Given the description of an element on the screen output the (x, y) to click on. 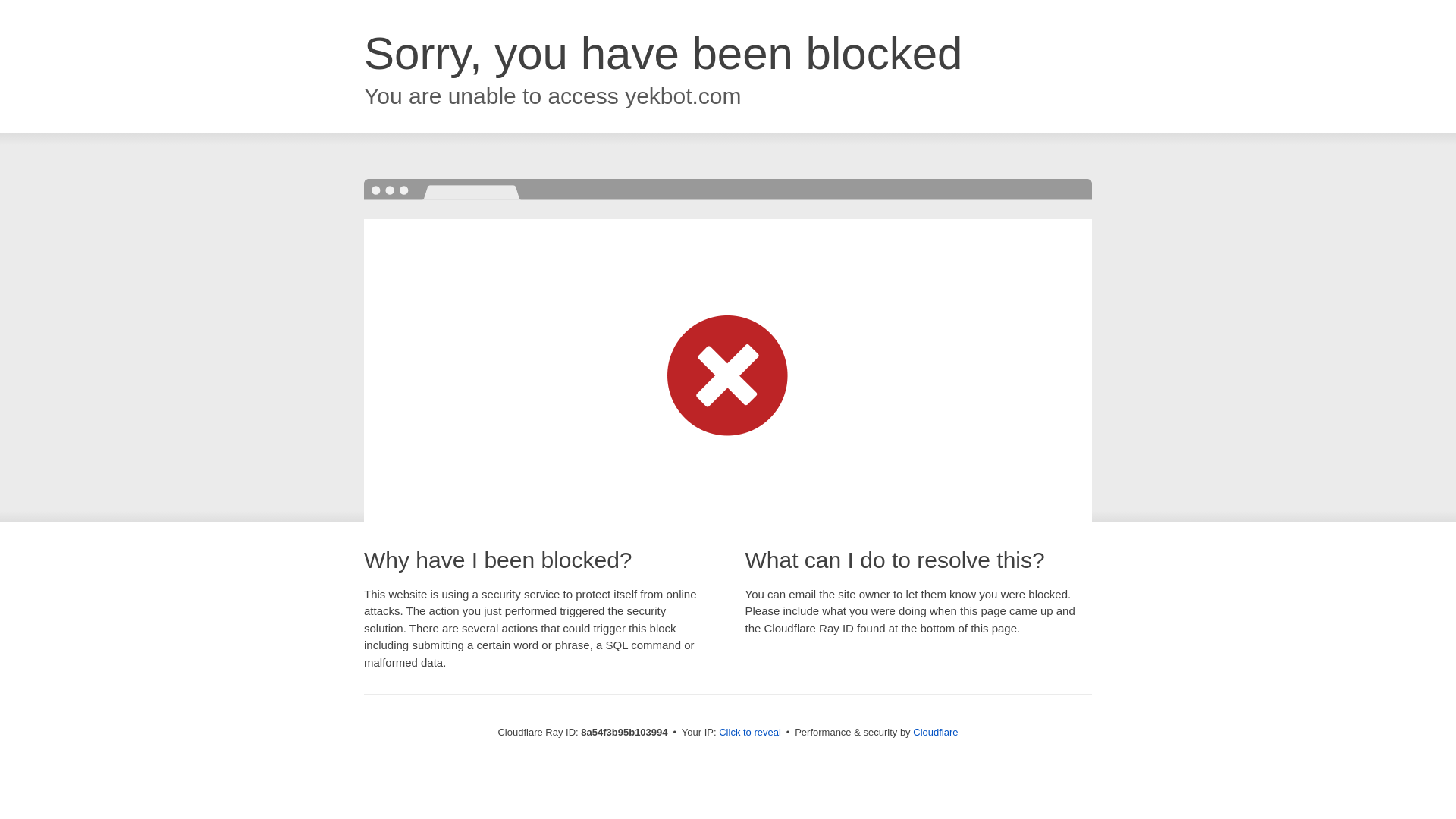
Cloudflare (935, 731)
Click to reveal (749, 732)
